Given the description of an element on the screen output the (x, y) to click on. 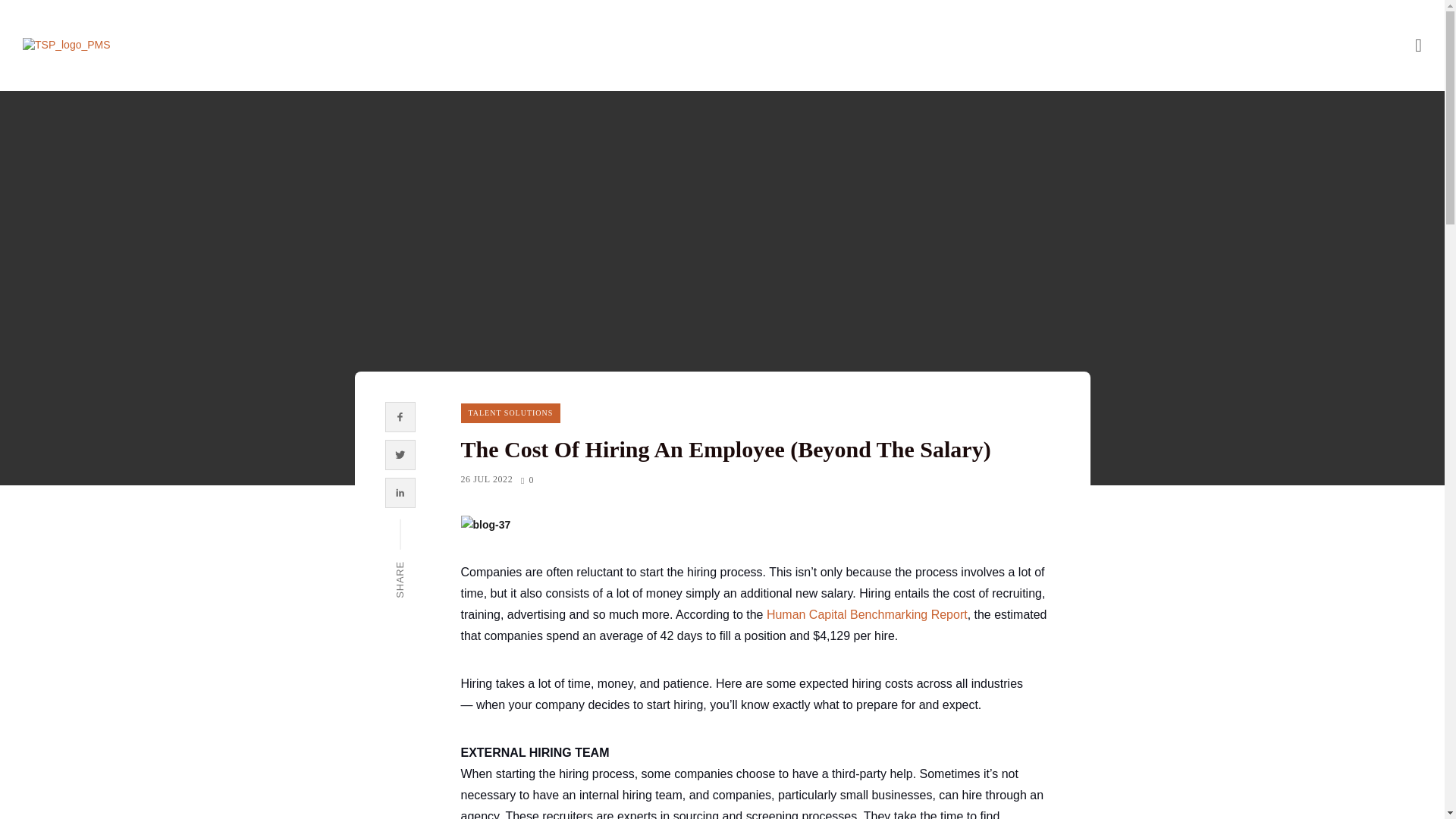
Share on Linkedin (399, 493)
0 (526, 479)
Share on Twitter (399, 454)
TALENT SOLUTIONS (510, 413)
Share on Facebook (399, 416)
Human Capital Benchmarking Report (867, 614)
